Given the description of an element on the screen output the (x, y) to click on. 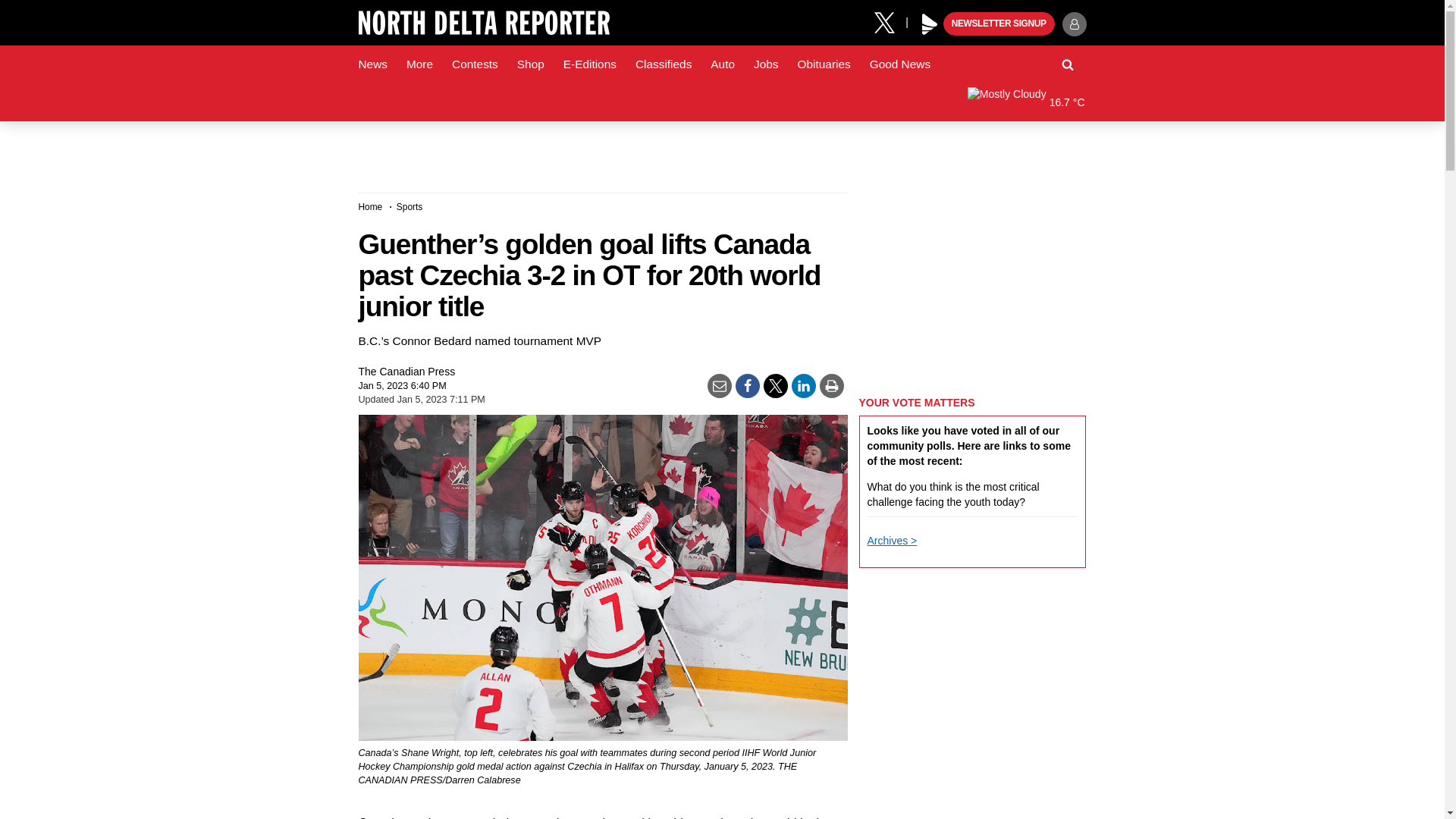
Black Press Media (929, 24)
Play (929, 24)
News (372, 64)
X (889, 21)
NEWSLETTER SIGNUP (998, 24)
